Given the description of an element on the screen output the (x, y) to click on. 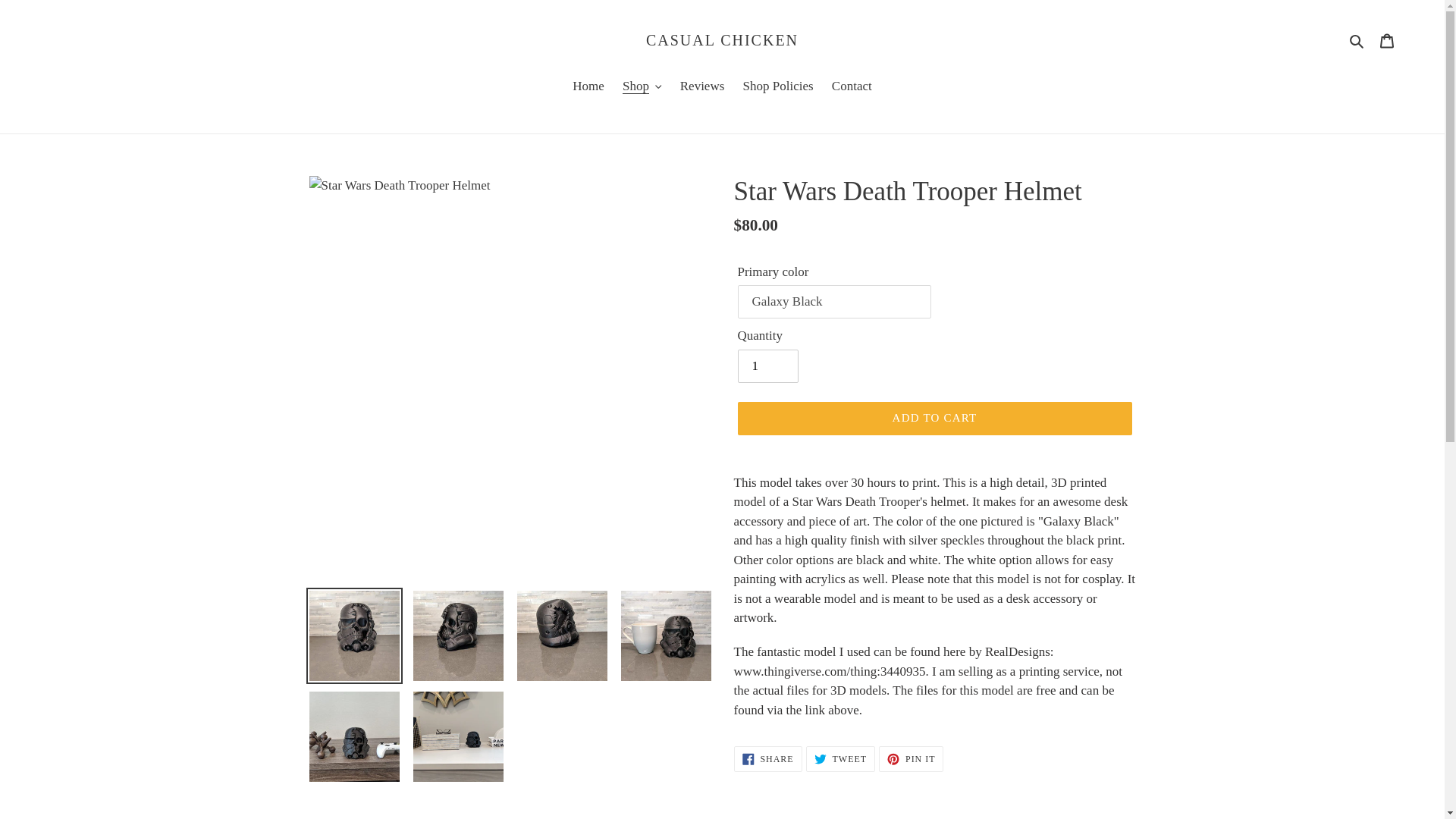
1 (766, 366)
Search (1357, 39)
Shop Policies (778, 86)
CASUAL CHICKEN (721, 40)
Contact (851, 86)
Home (587, 86)
Shop (641, 86)
Cart (1387, 39)
Reviews (702, 86)
